Given the description of an element on the screen output the (x, y) to click on. 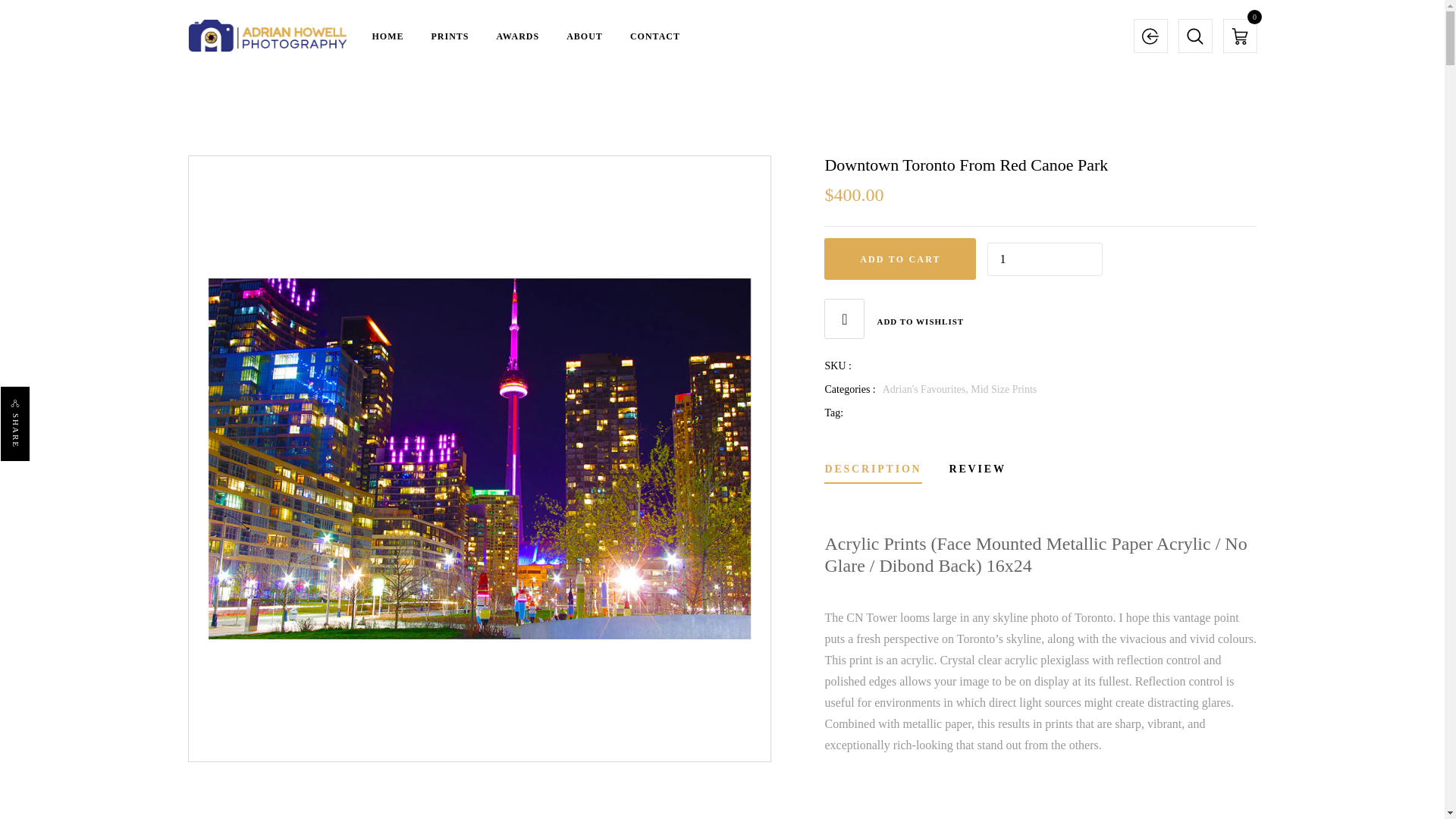
PRINTS (449, 35)
HOME (387, 35)
HOME (387, 35)
1 (1044, 259)
AWARDS (518, 35)
ABOUT (584, 35)
AWARDS (518, 35)
CONTACT (654, 35)
ABOUT (584, 35)
Qty (1044, 259)
PRINTS (449, 35)
CONTACT (654, 35)
